Given the description of an element on the screen output the (x, y) to click on. 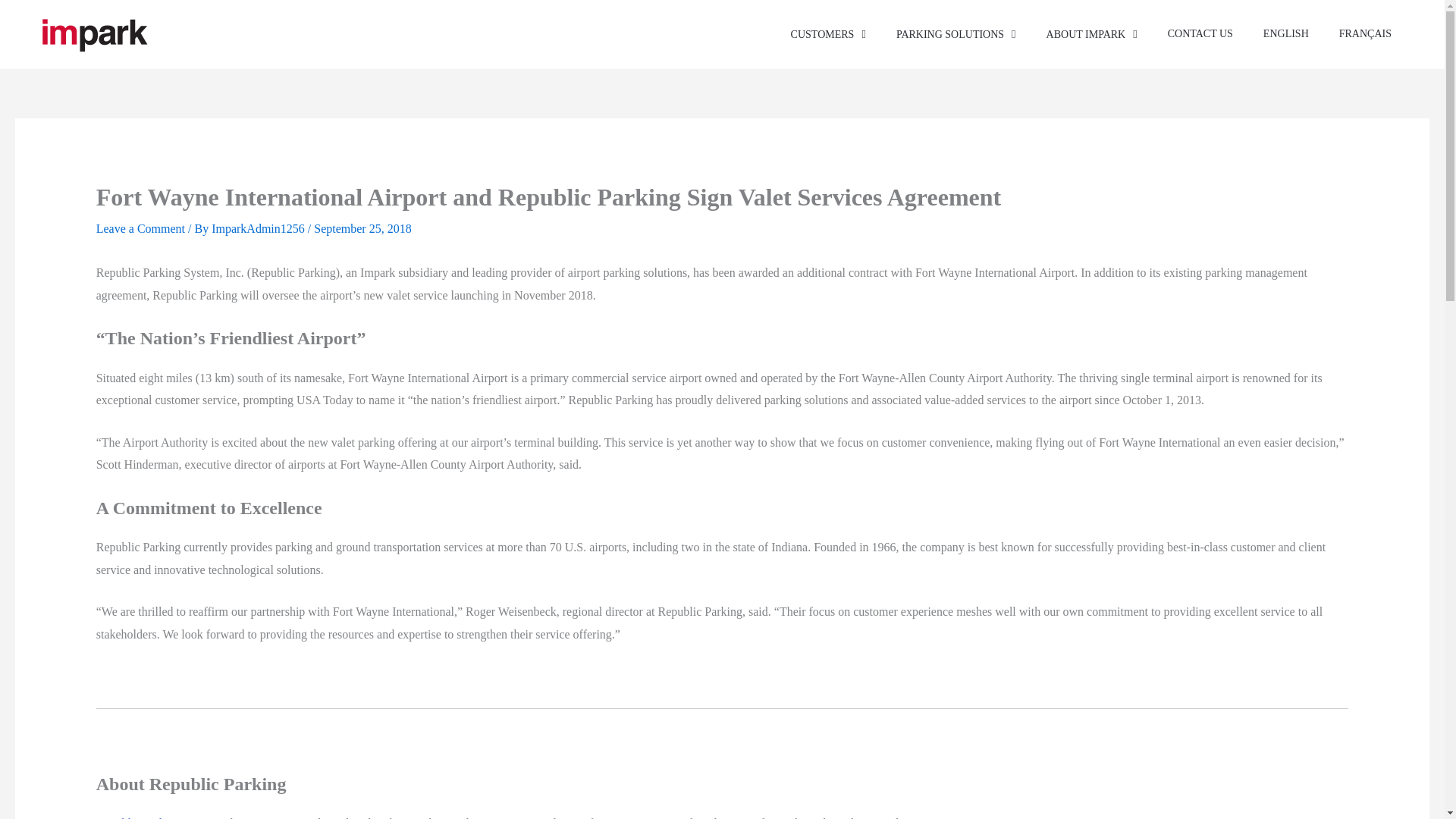
English (1285, 34)
CONTACT US (1200, 34)
French (1364, 34)
ABOUT IMPARK (1091, 34)
ImparkAdmin1256 (259, 228)
PARKING SOLUTIONS (955, 34)
Leave a Comment (140, 228)
ENGLISH (1285, 34)
View all posts by ImparkAdmin1256 (259, 228)
Republic Parking (138, 817)
